Given the description of an element on the screen output the (x, y) to click on. 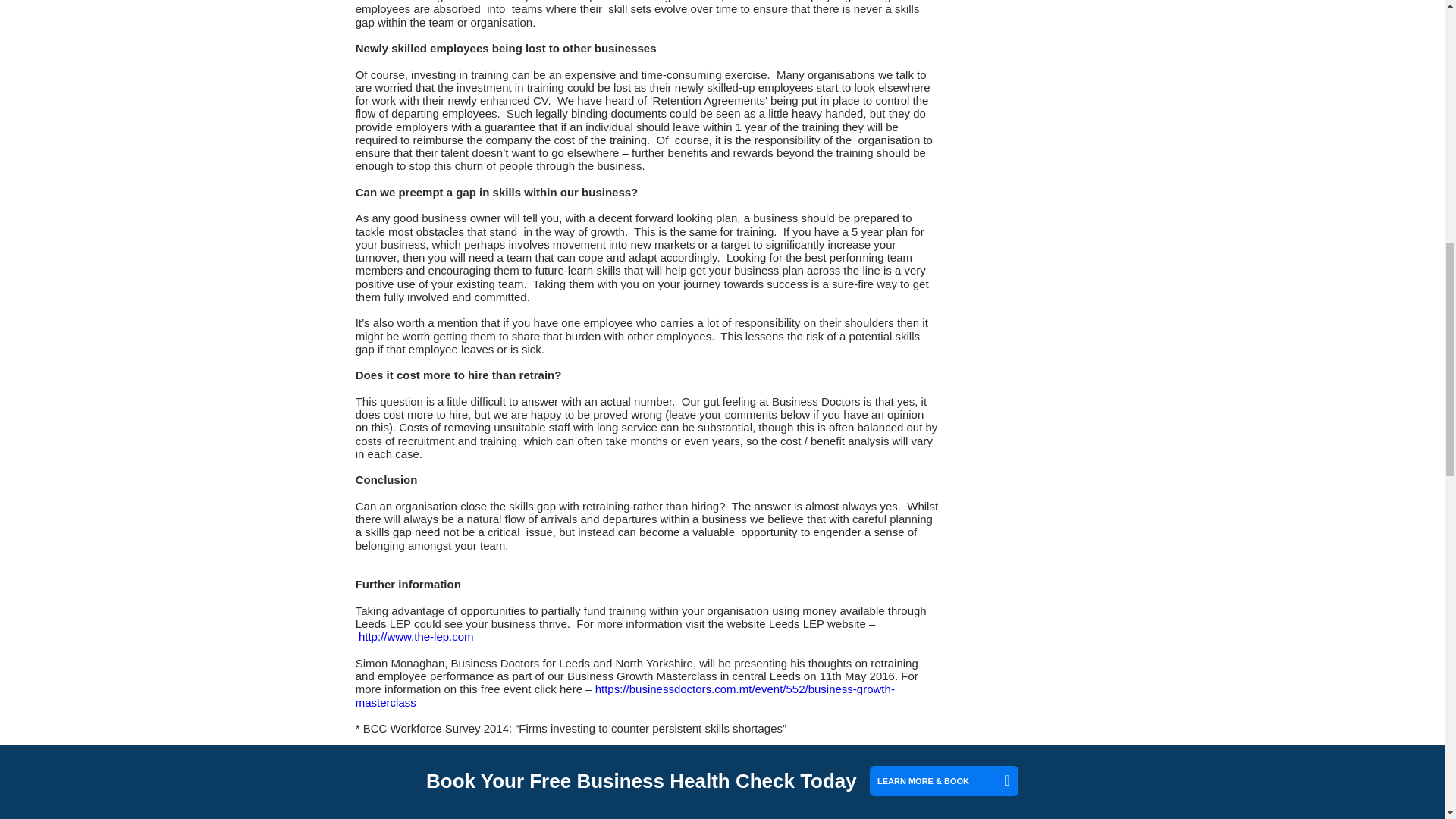
BACK TO CONTENT HUB (424, 771)
